Given the description of an element on the screen output the (x, y) to click on. 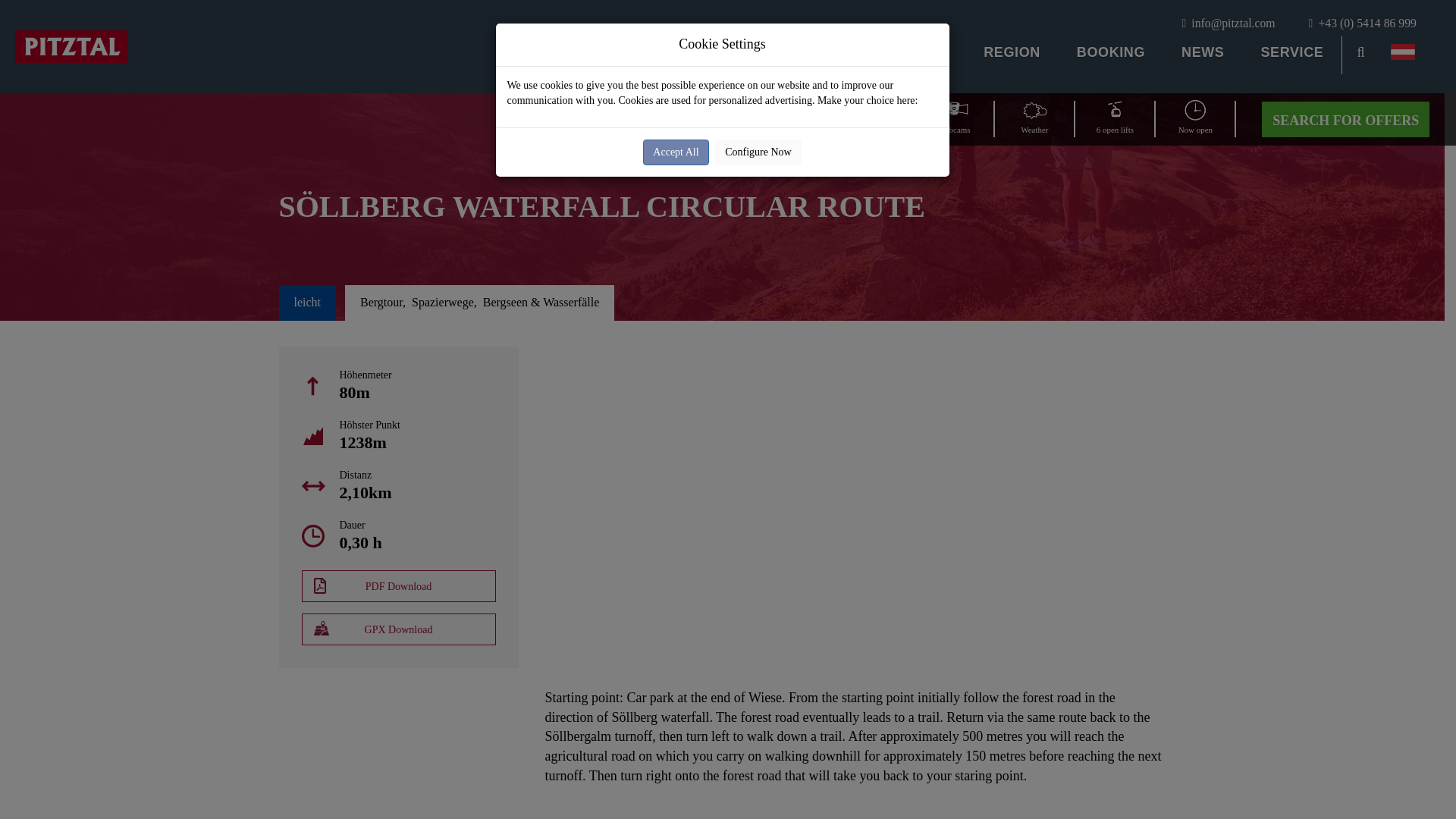
SUMMER (588, 54)
